Given the description of an element on the screen output the (x, y) to click on. 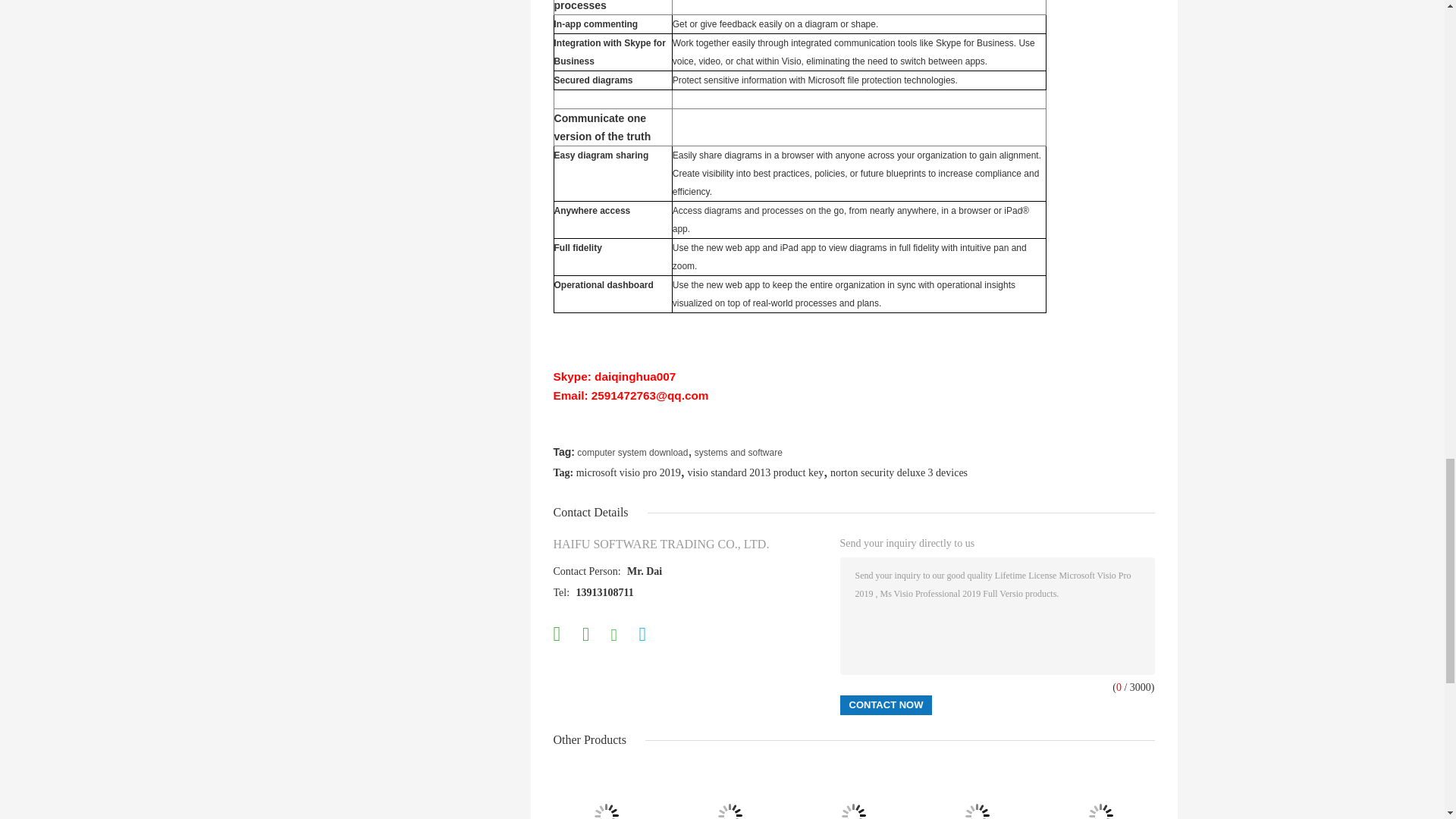
computer system download (631, 452)
visio standard 2013 product key (755, 472)
systems and software (738, 452)
Contact Now (886, 704)
microsoft visio pro 2019 (628, 472)
